Given the description of an element on the screen output the (x, y) to click on. 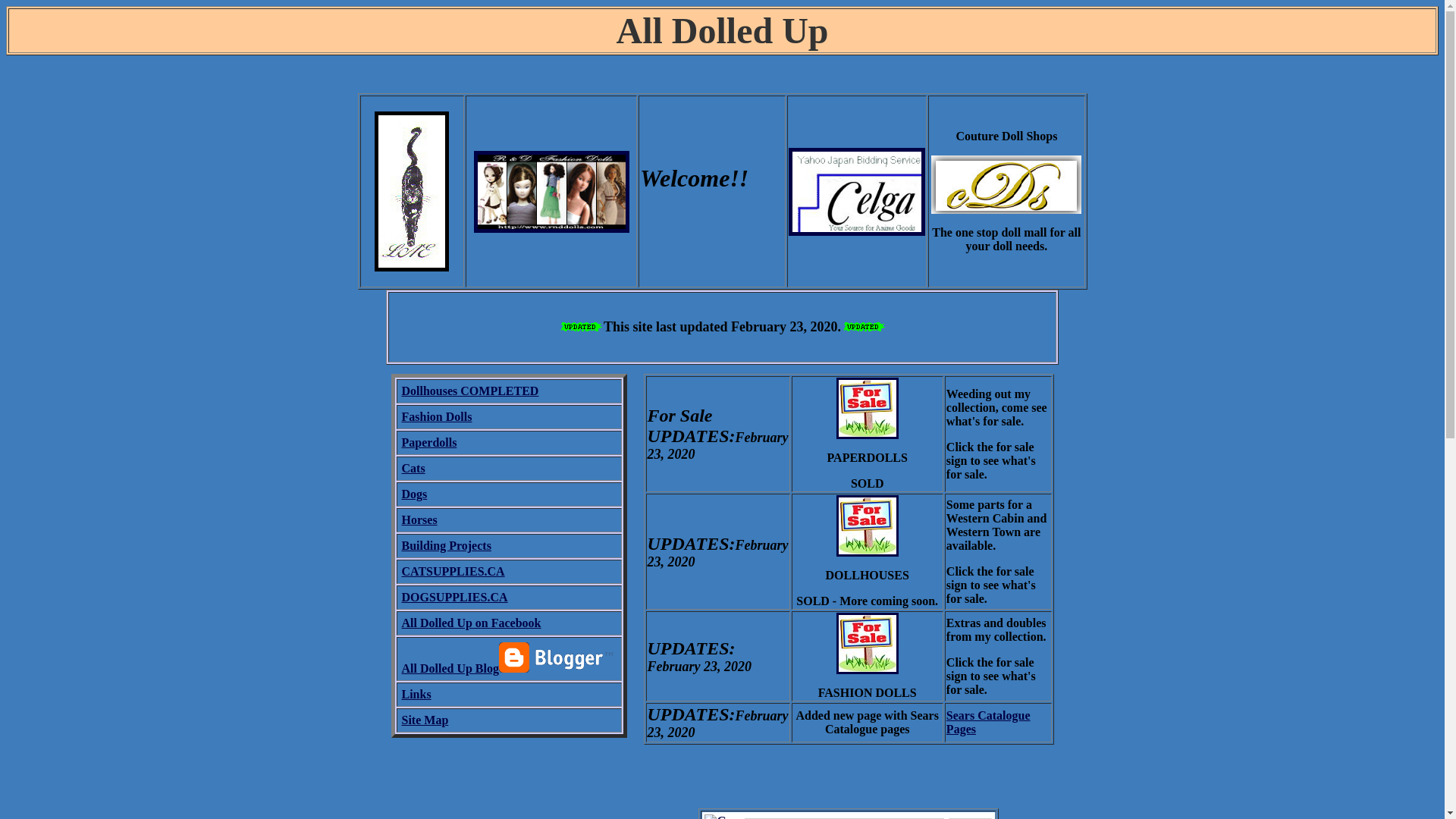
Sears Catalogue Pages (988, 722)
Cats (413, 468)
DOGSUPPLIES.CA (454, 596)
Horses (419, 519)
Dogs (414, 493)
Building Projects (446, 545)
All Dolled Up on Facebook (471, 622)
Search (969, 818)
Search (969, 818)
Paperdolls (429, 441)
Dollhouses COMPLETED (469, 390)
All Dolled Up Blog (450, 667)
Site Map (424, 719)
CATSUPPLIES.CA (453, 571)
Links (415, 694)
